Given the description of an element on the screen output the (x, y) to click on. 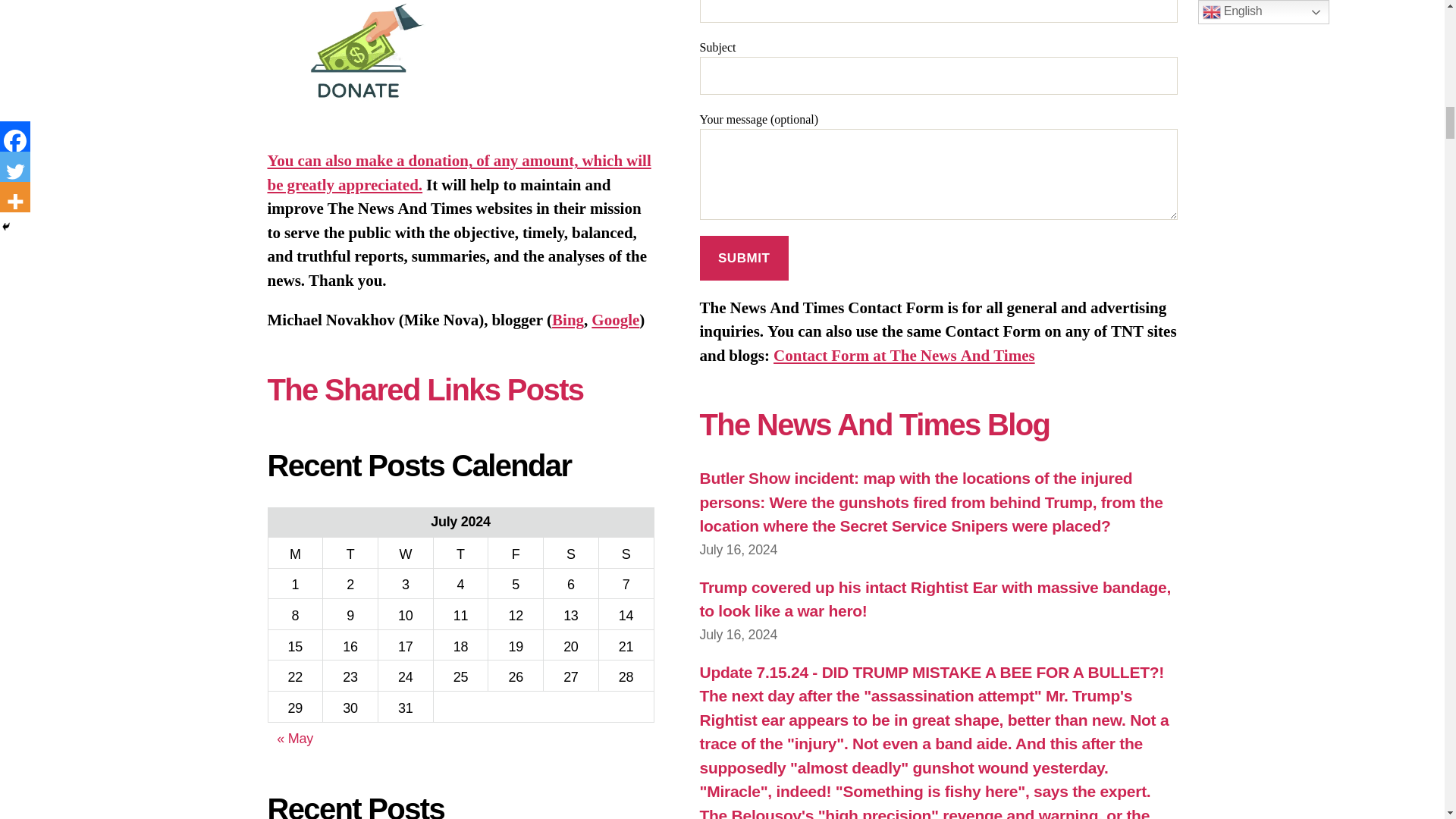
Wednesday (404, 552)
Thursday (459, 552)
Friday (515, 552)
Sunday (625, 552)
Tuesday (350, 552)
Saturday (570, 552)
Monday (295, 552)
Submit (743, 257)
